Given the description of an element on the screen output the (x, y) to click on. 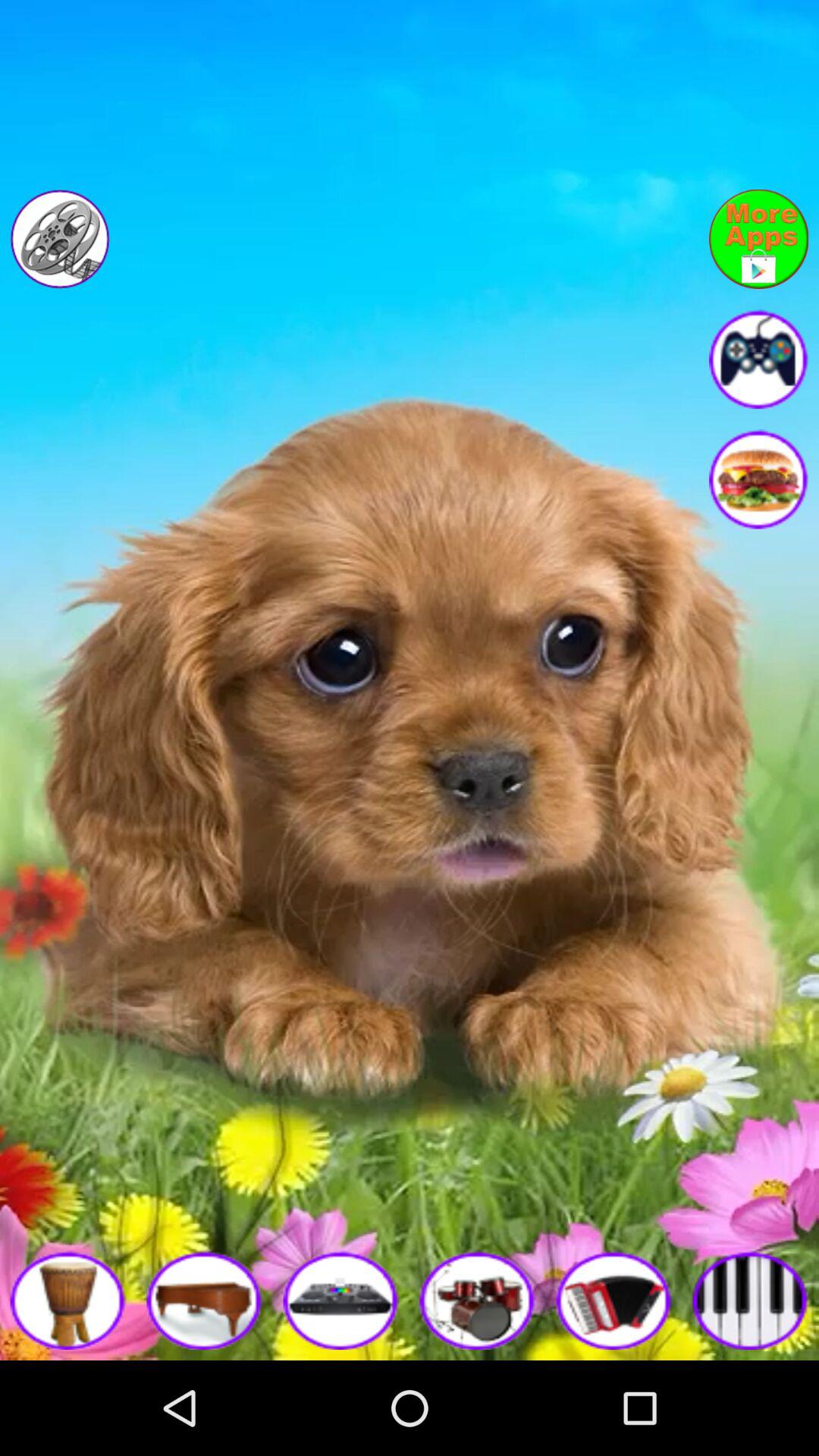
go back advertisement option (758, 238)
